Given the description of an element on the screen output the (x, y) to click on. 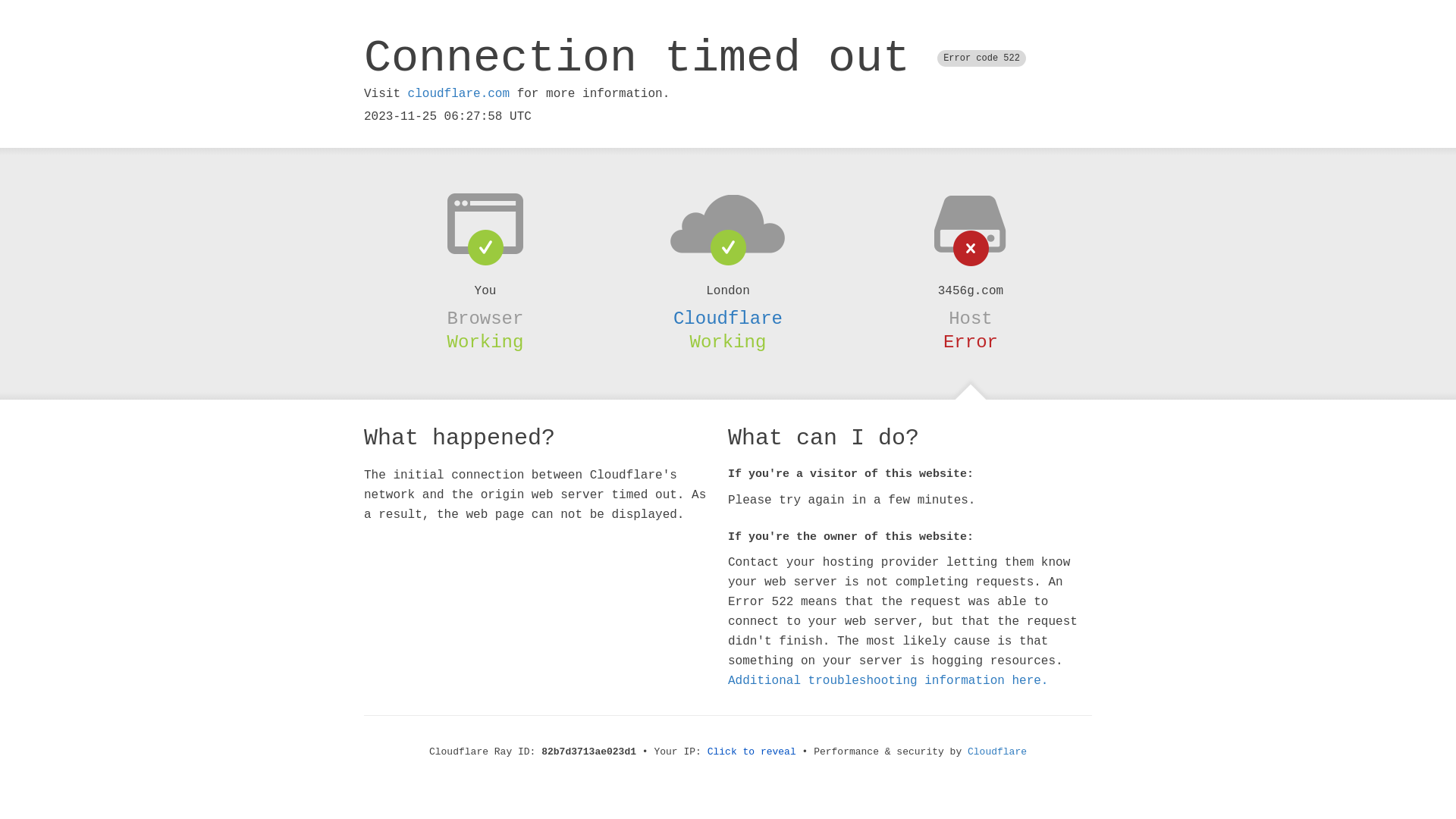
Click to reveal Element type: text (751, 751)
Additional troubleshooting information here. Element type: text (888, 680)
Cloudflare Element type: text (727, 318)
Cloudflare Element type: text (996, 751)
cloudflare.com Element type: text (458, 93)
